Given the description of an element on the screen output the (x, y) to click on. 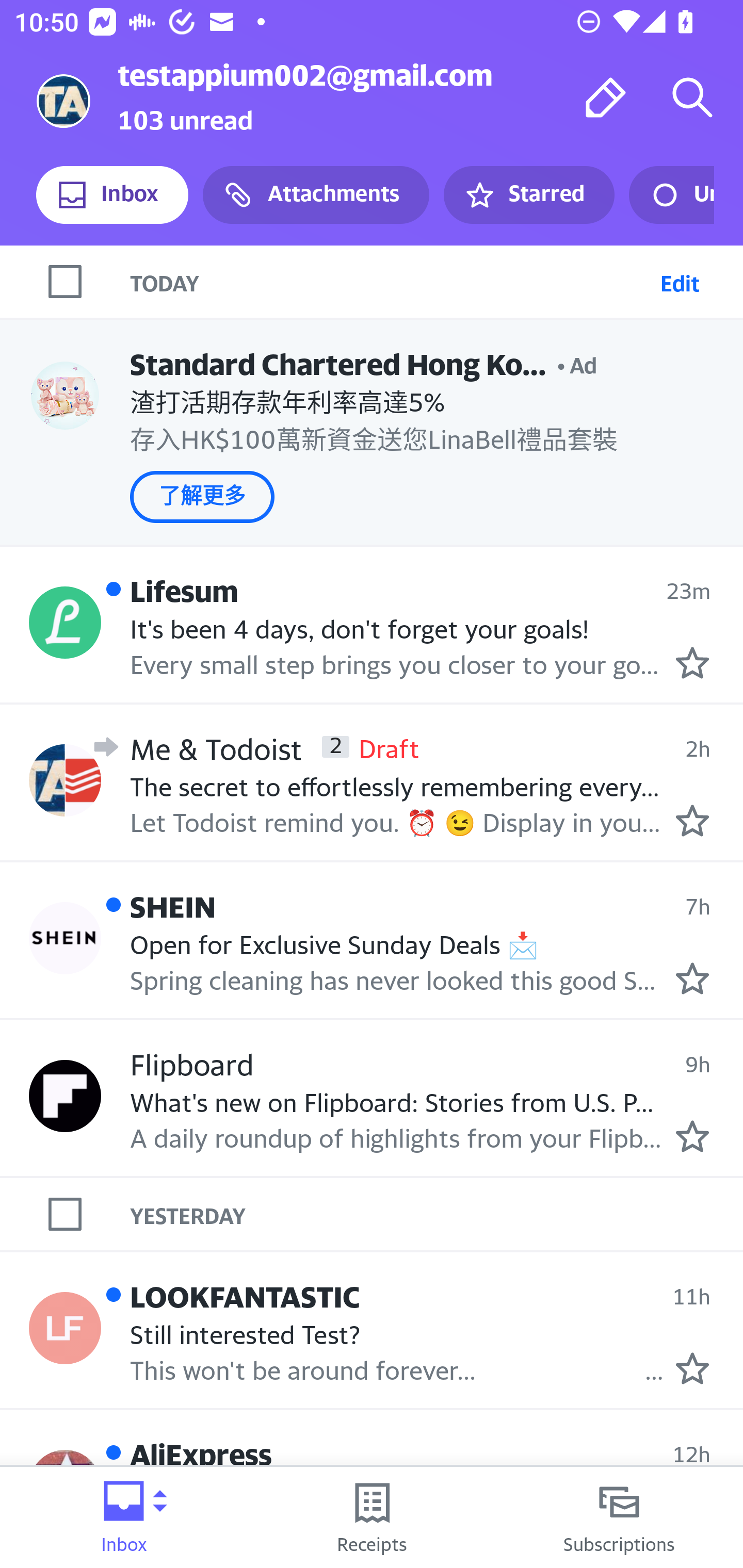
Compose (605, 97)
Search mail (692, 97)
Attachments (315, 195)
Starred (528, 195)
TODAY (391, 281)
Edit Select emails (679, 281)
Profile
Lifesum (64, 622)
Mark as starred. (692, 662)
Profile
Me & Todoist (64, 780)
Mark as starred. (692, 820)
Profile
SHEIN (64, 937)
Mark as starred. (692, 978)
Profile
Flipboard (64, 1095)
Mark as starred. (692, 1135)
YESTERDAY (436, 1214)
Profile
LOOKFANTASTIC (64, 1328)
Mark as starred. (692, 1368)
Inbox Folder picker (123, 1517)
Receipts (371, 1517)
Subscriptions (619, 1517)
